Given the description of an element on the screen output the (x, y) to click on. 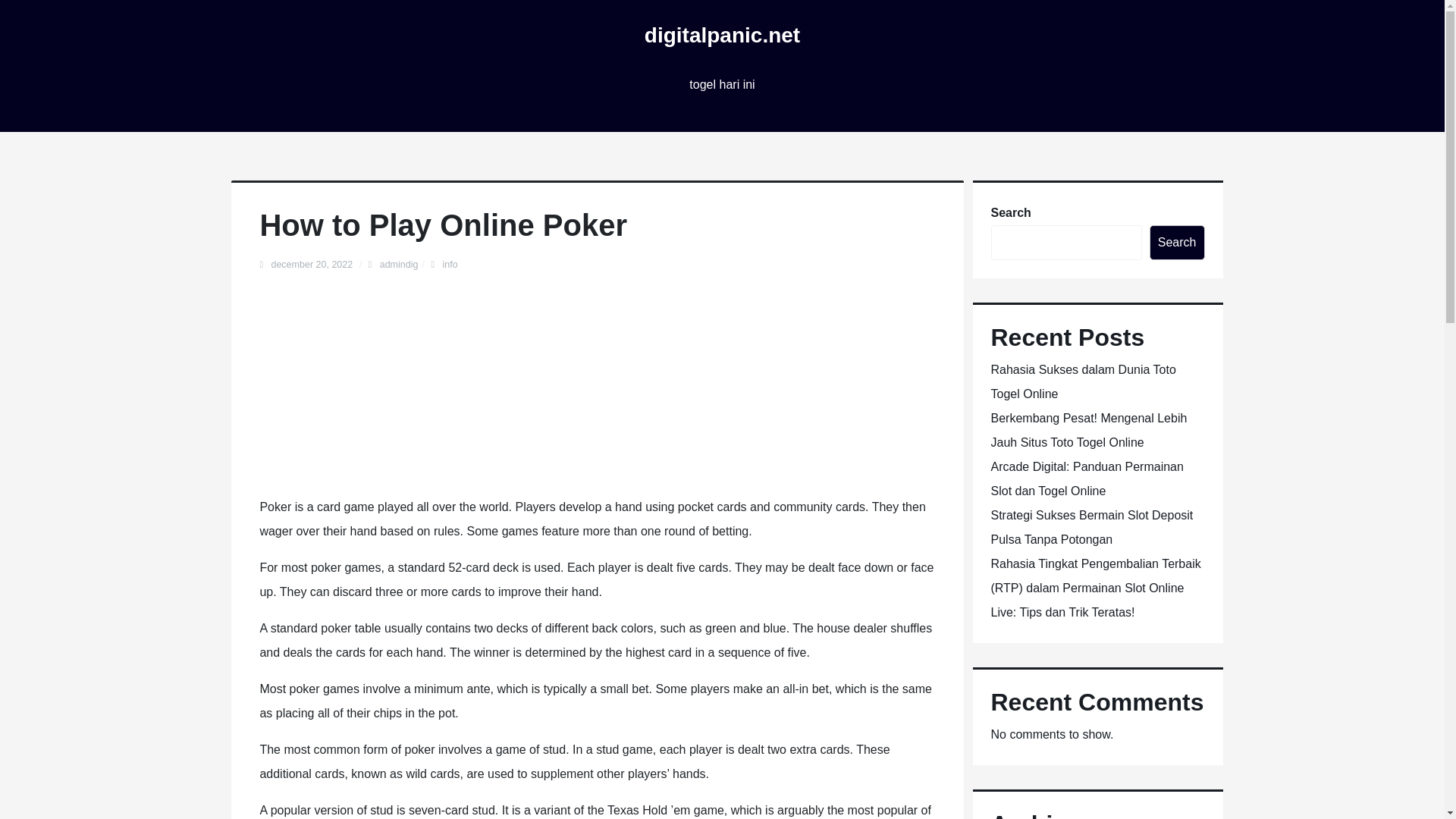
Search (1177, 242)
december 20, 2022 (312, 264)
togel hari ini (721, 84)
Rahasia Sukses dalam Dunia Toto Togel Online (1082, 381)
Strategi Sukses Bermain Slot Deposit Pulsa Tanpa Potongan (1091, 527)
digitalpanic.net (722, 34)
Arcade Digital: Panduan Permainan Slot dan Togel Online (1086, 478)
info (449, 264)
togel hari ini (721, 84)
admindig (399, 264)
